Given the description of an element on the screen output the (x, y) to click on. 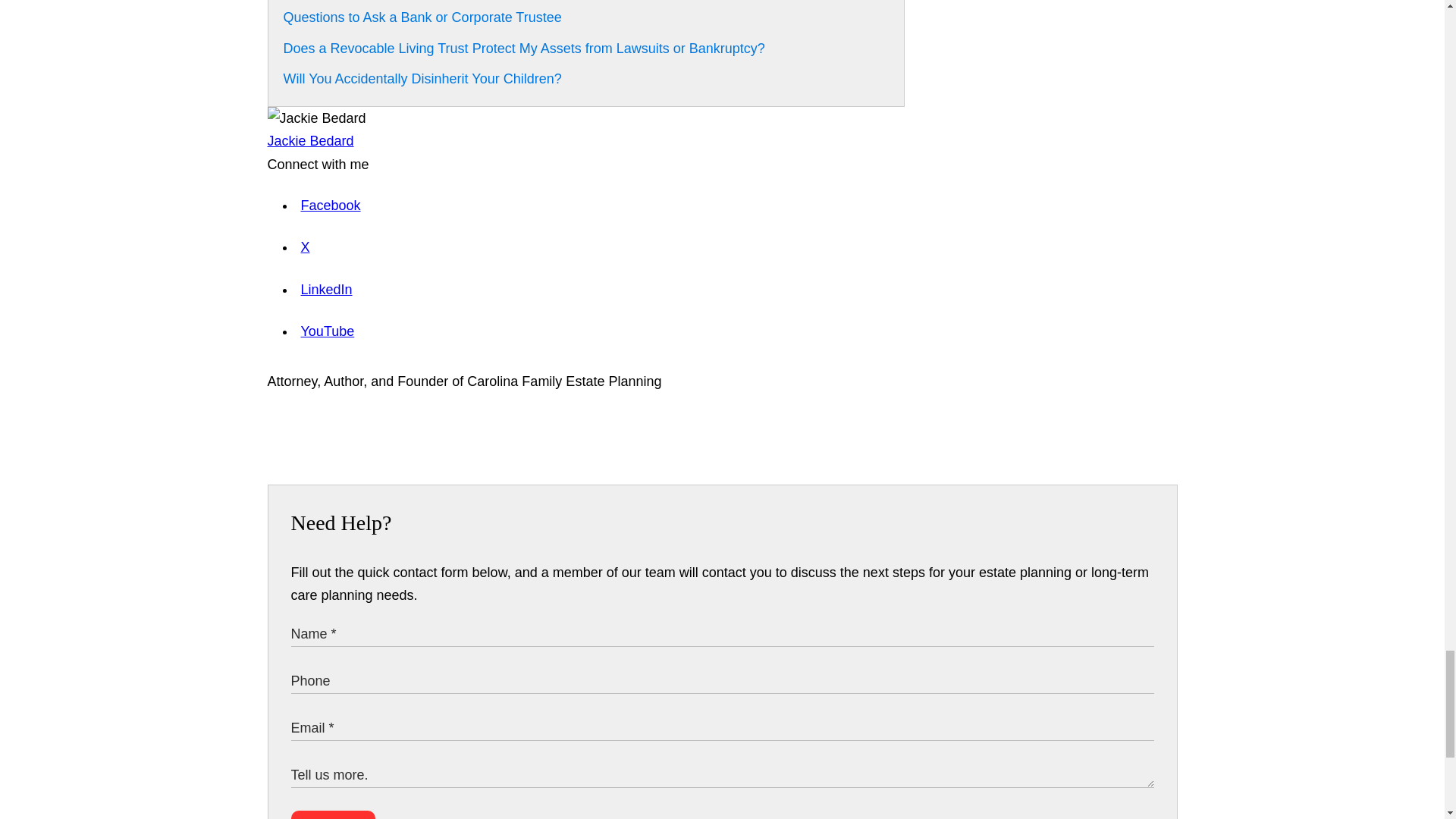
Will You Accidentally Disinherit Your Children? (422, 78)
Questions to Ask a Bank or Corporate Trustee (422, 17)
